Given the description of an element on the screen output the (x, y) to click on. 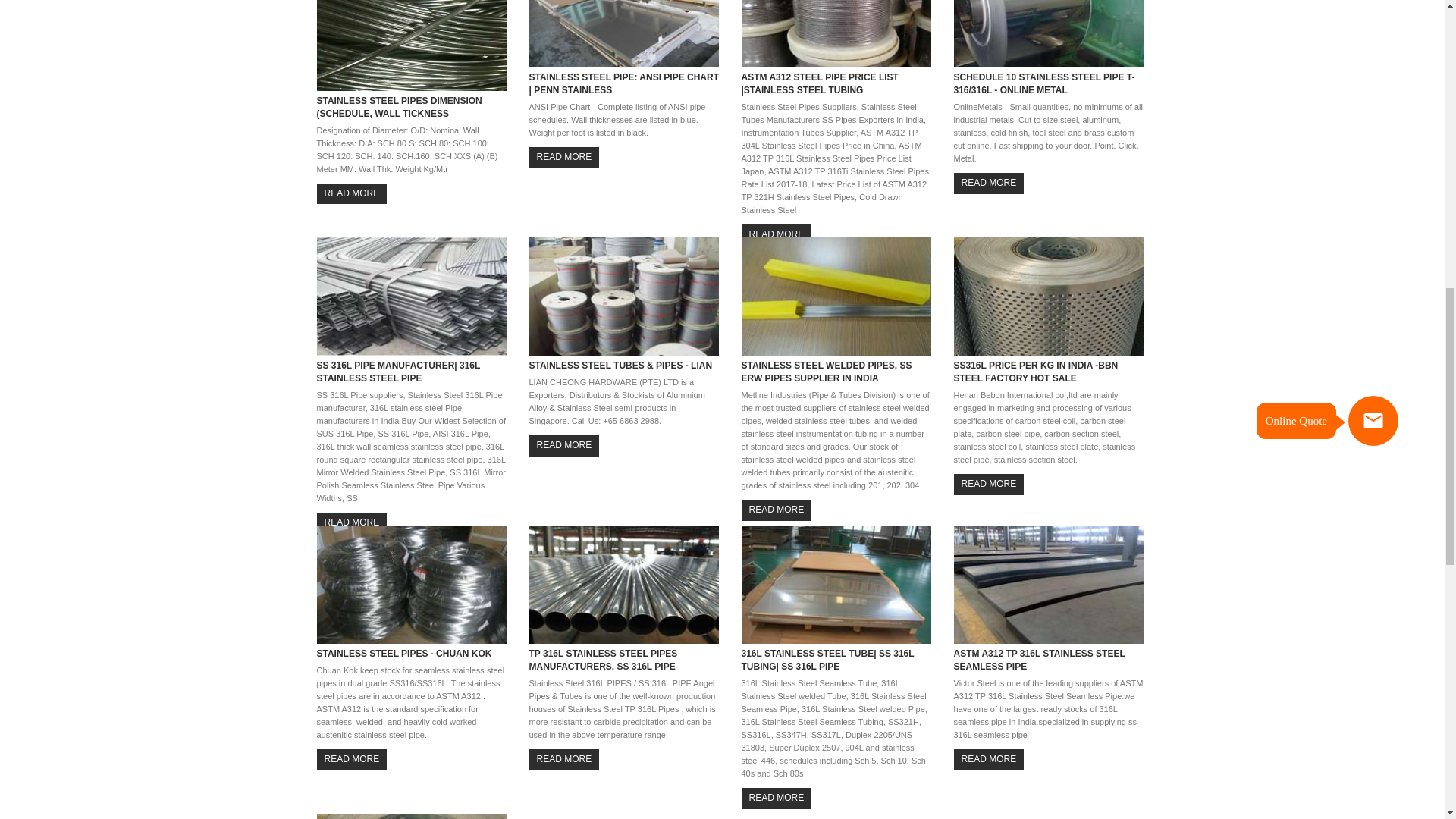
READ MORE (776, 509)
READ MORE (989, 182)
READ MORE (352, 193)
READ MORE (989, 759)
READ MORE (989, 484)
READ MORE (776, 797)
READ MORE (564, 157)
READ MORE (352, 759)
READ MORE (564, 444)
READ MORE (352, 522)
